Given the description of an element on the screen output the (x, y) to click on. 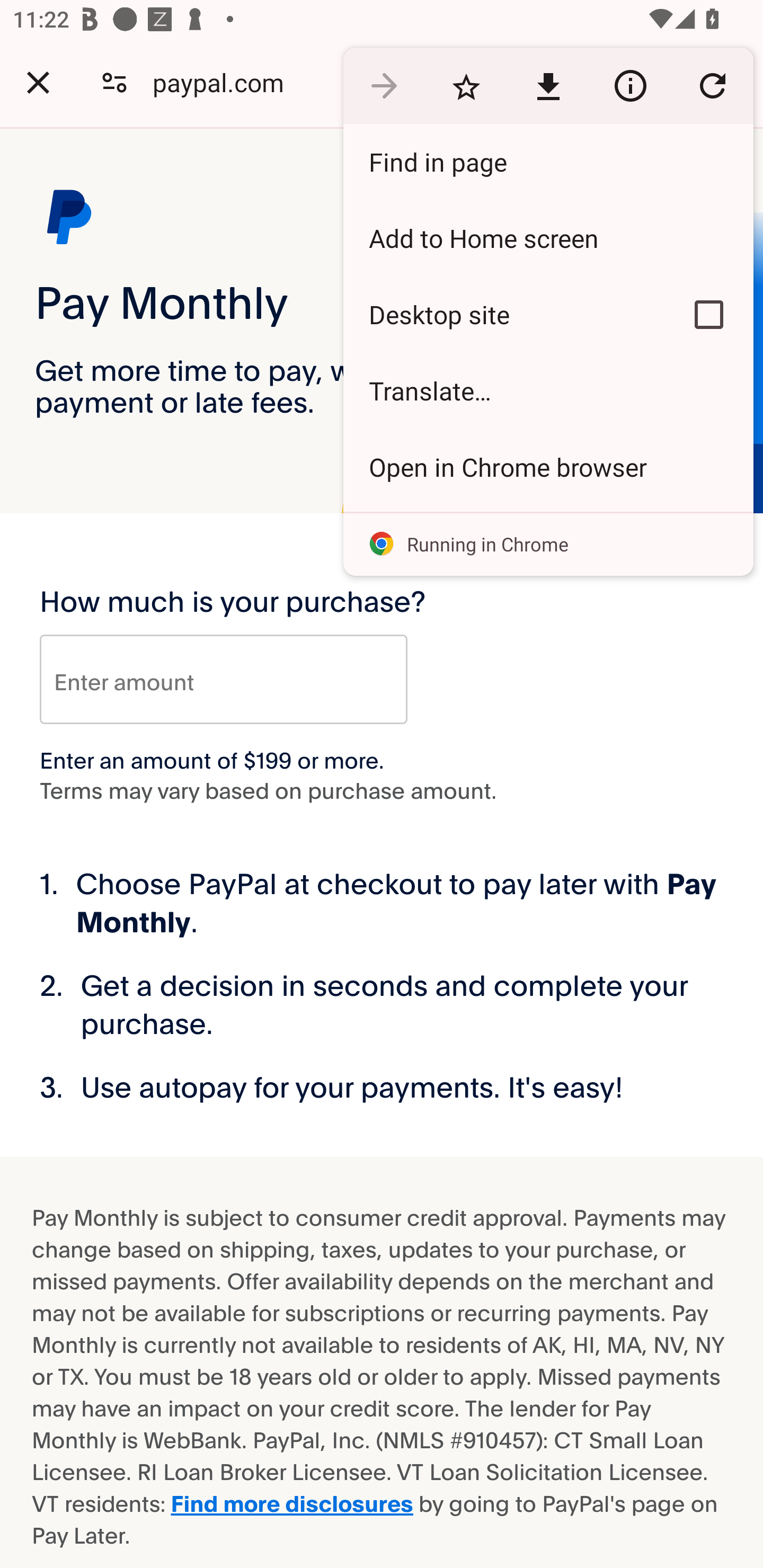
Go forward (383, 85)
Bookmark (465, 85)
Download this page (548, 85)
View site information (630, 85)
Refresh (712, 85)
Find in page (548, 161)
Add to Home screen (548, 237)
Desktop site Turn on Request desktop site (503, 313)
Translate… (548, 390)
Open in Chrome browser (548, 466)
